Given the description of an element on the screen output the (x, y) to click on. 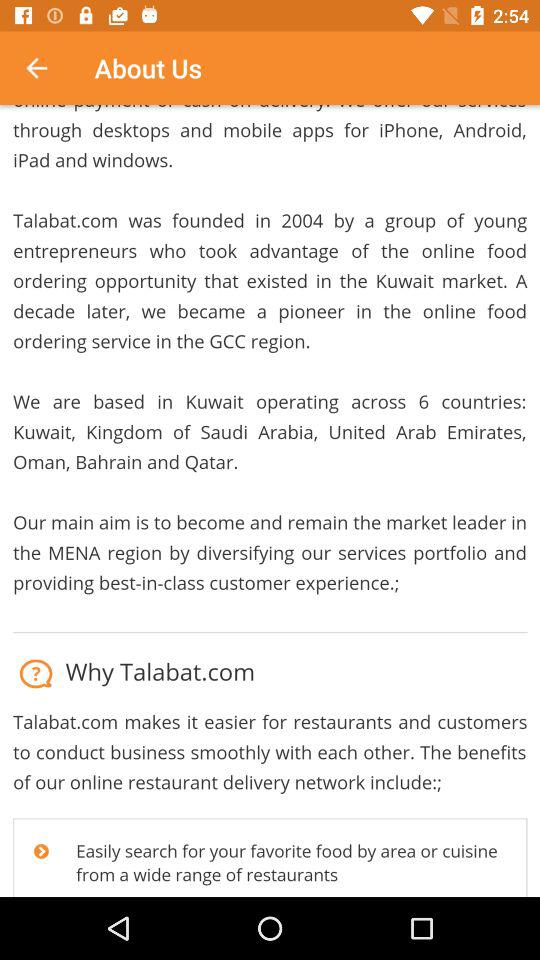
about us (270, 501)
